Given the description of an element on the screen output the (x, y) to click on. 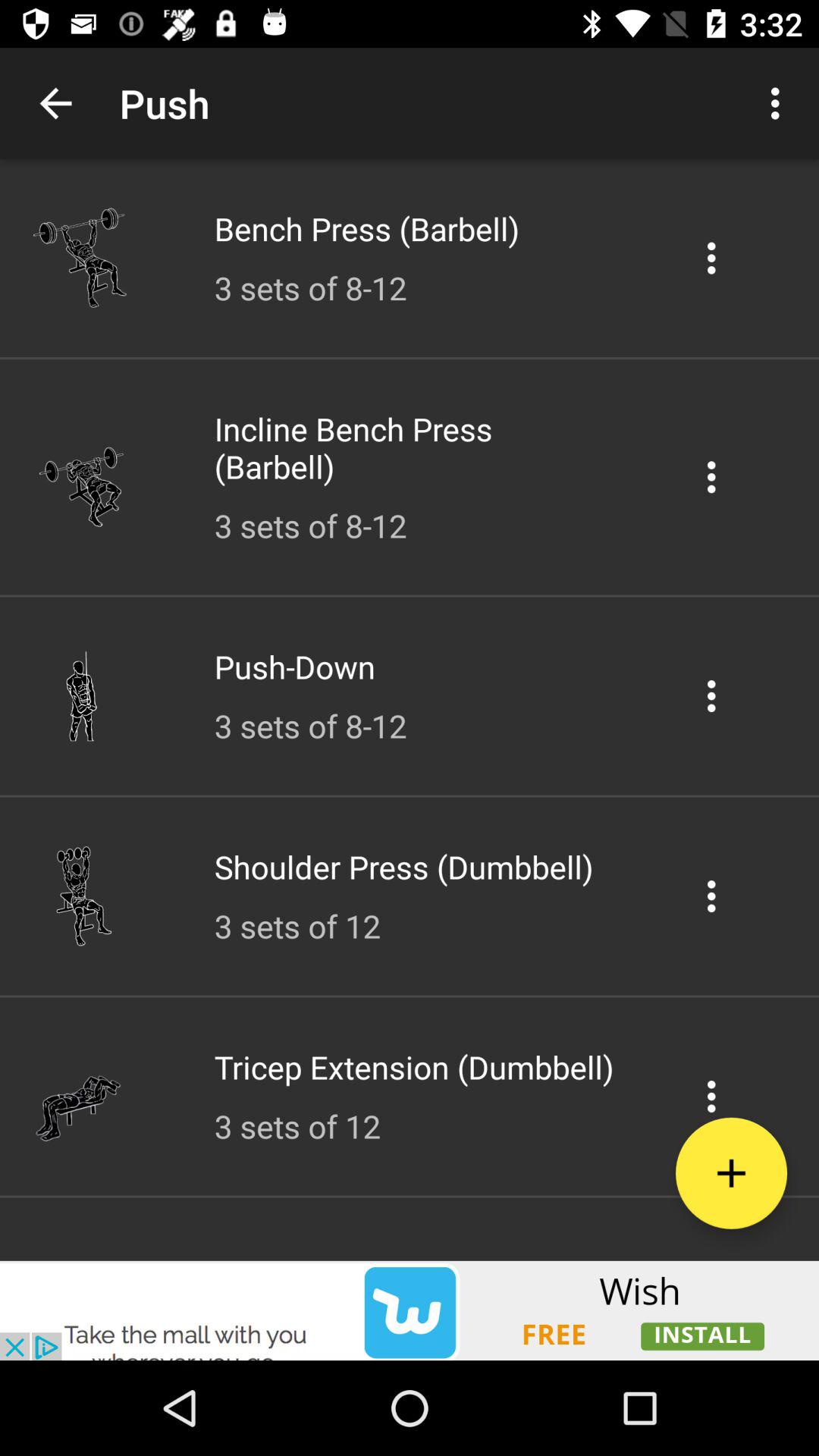
select workout options (711, 258)
